Given the description of an element on the screen output the (x, y) to click on. 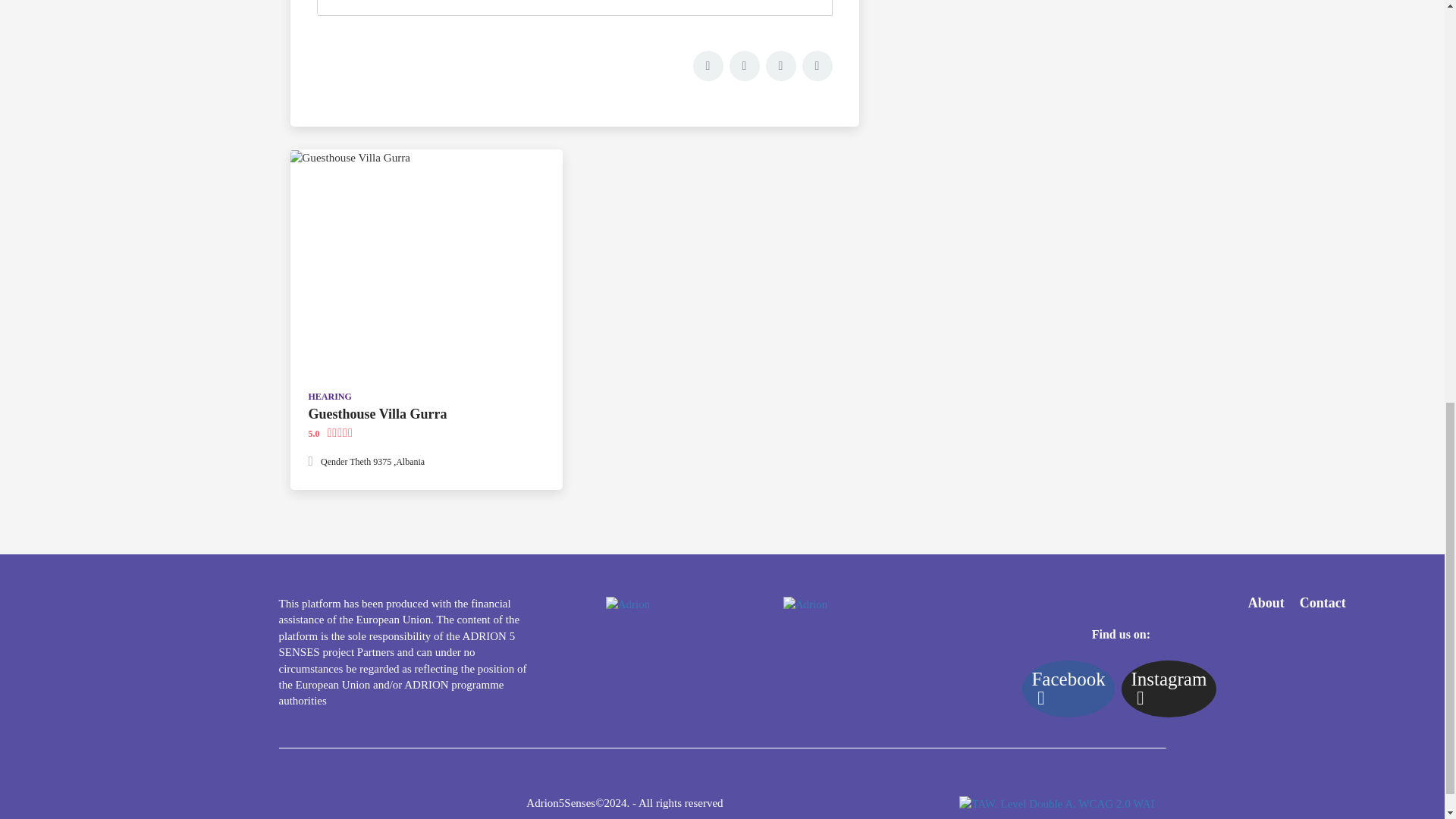
ADRION 5 SENSES (627, 603)
TAW. Level Double A. WCAG 2.0 WAI (1056, 804)
Guesthouse Villa Gurra (376, 413)
HEARING (328, 396)
